Given the description of an element on the screen output the (x, y) to click on. 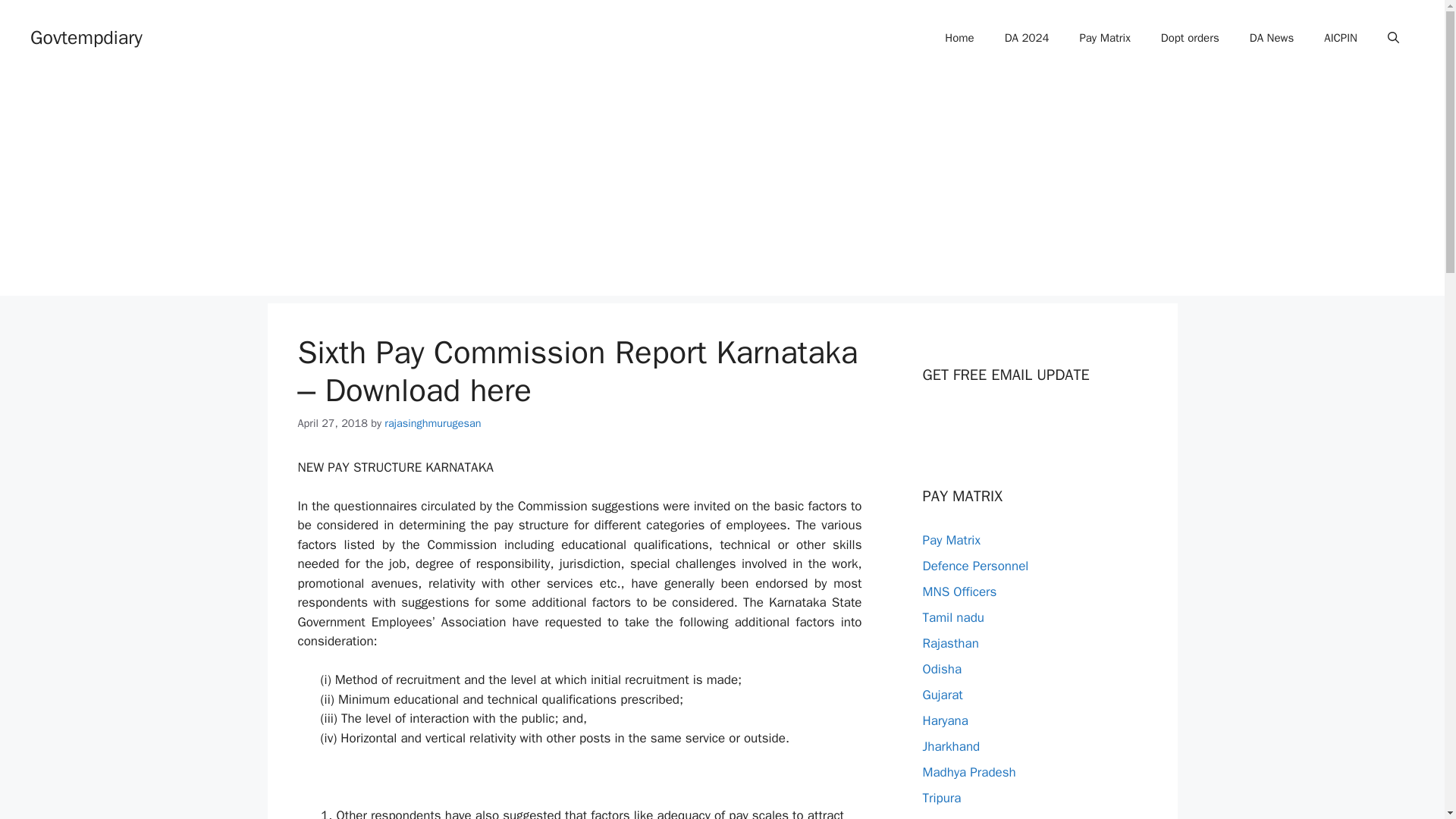
Uttrakhand (952, 817)
View all posts by rajasinghmurugesan (432, 422)
Home (959, 37)
Tamil nadu (952, 617)
Gujarat (941, 694)
Pay Matrix (950, 539)
Dopt orders (1189, 37)
Govtempdiary (86, 37)
Jharkhand (950, 746)
rajasinghmurugesan (432, 422)
